Given the description of an element on the screen output the (x, y) to click on. 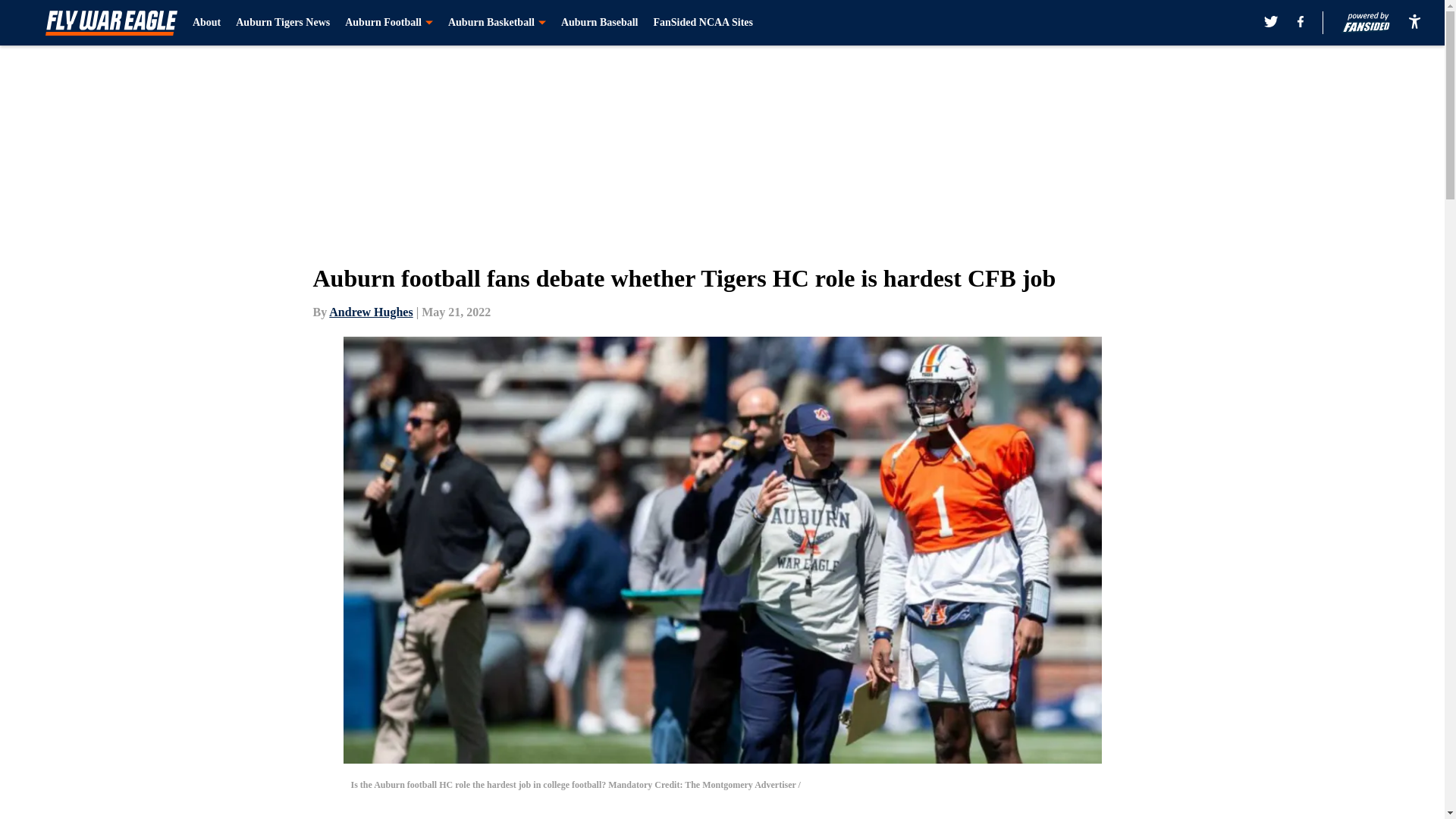
Auburn Tigers News (282, 22)
Andrew Hughes (370, 311)
Auburn Baseball (599, 22)
FanSided NCAA Sites (702, 22)
About (206, 22)
